Given the description of an element on the screen output the (x, y) to click on. 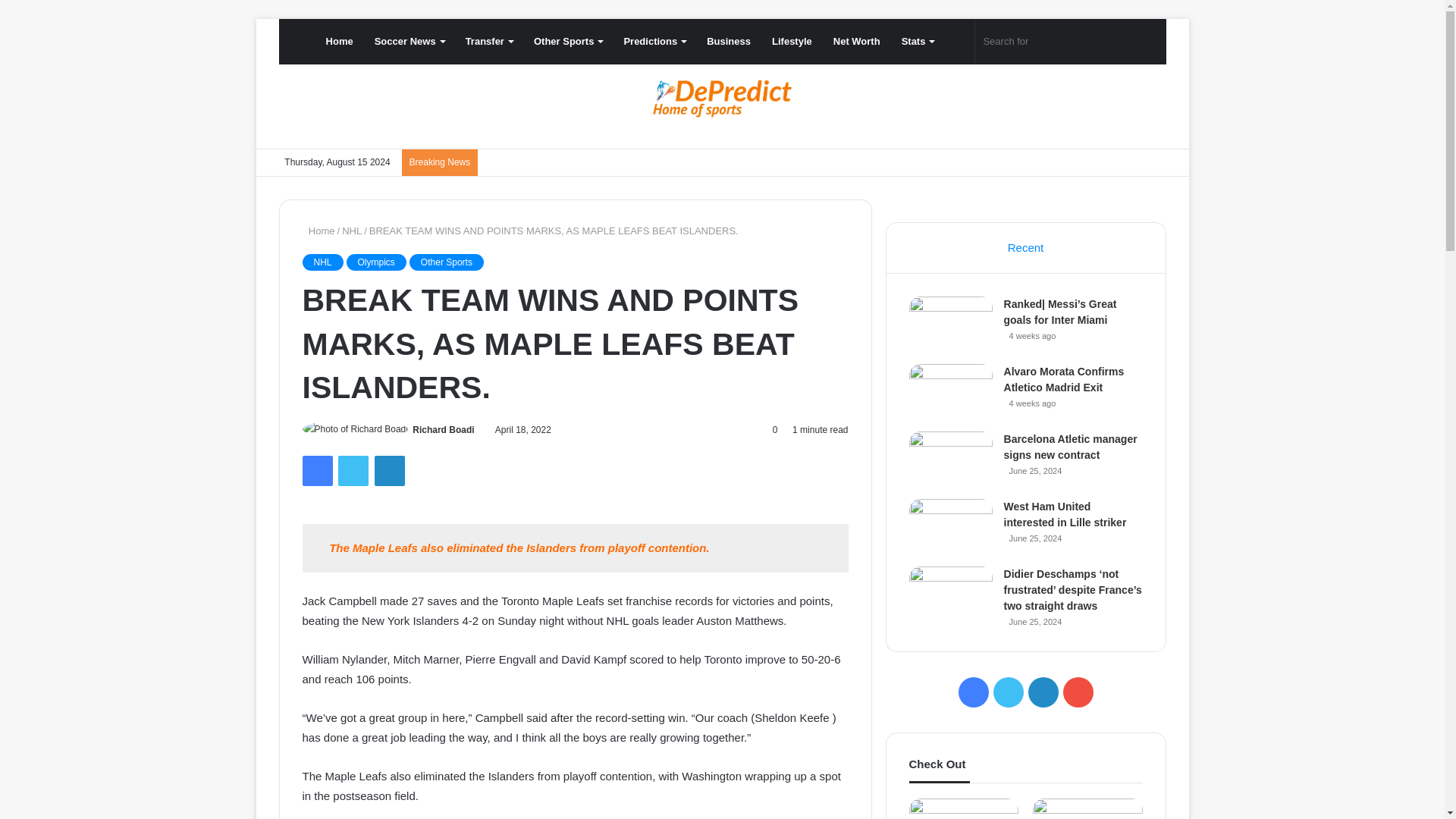
Search for (1052, 41)
Predictions (653, 41)
LinkedIn (389, 470)
Twitter (352, 470)
Richard Boadi (443, 429)
DePredict.com (722, 98)
Facebook (316, 470)
Other Sports (567, 41)
Soccer News (409, 41)
Transfer (488, 41)
